Given the description of an element on the screen output the (x, y) to click on. 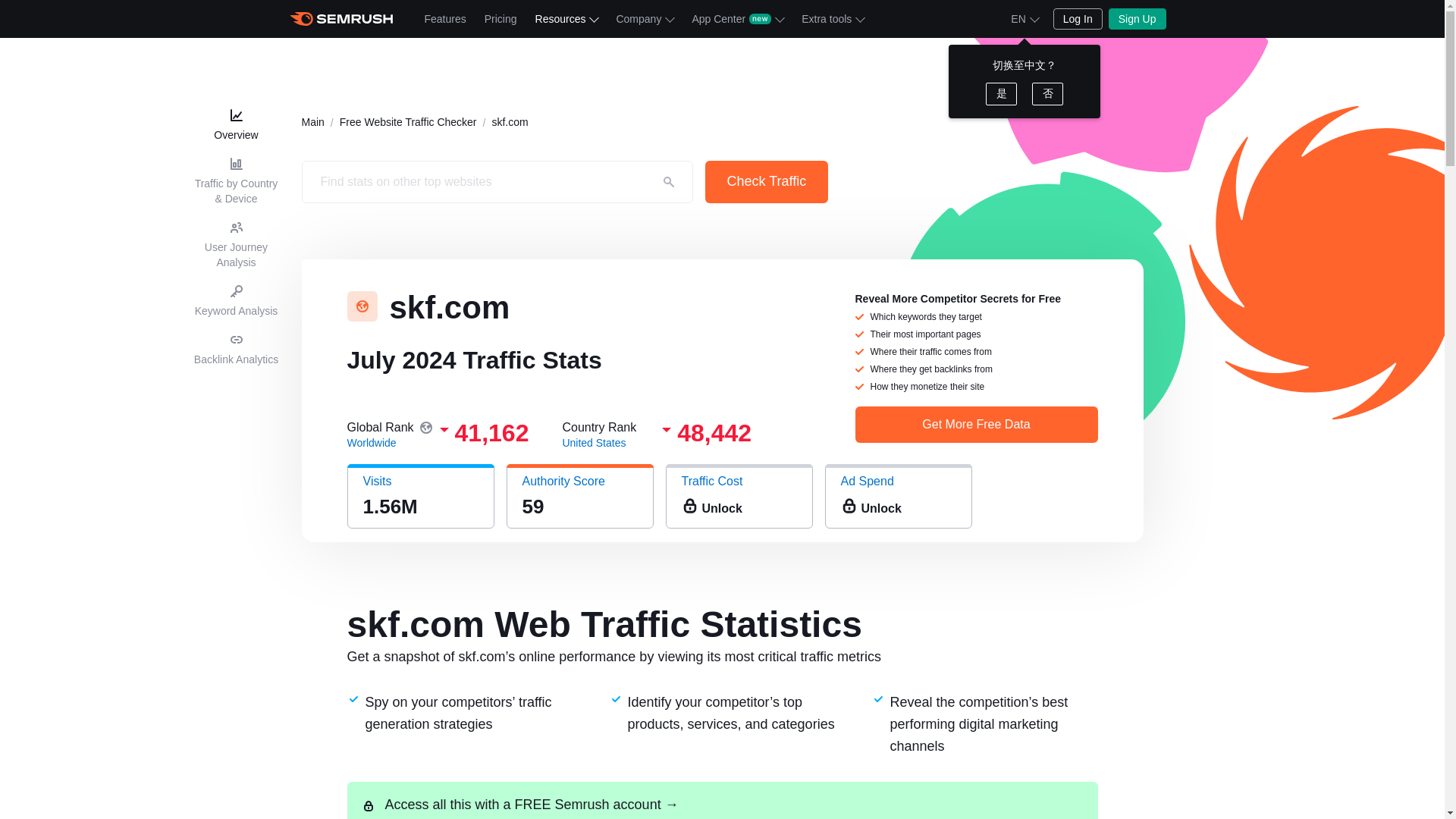
Resources (566, 18)
Features (445, 18)
Company (644, 18)
App Center (737, 18)
Pricing (500, 18)
Extra tools (832, 18)
